Given the description of an element on the screen output the (x, y) to click on. 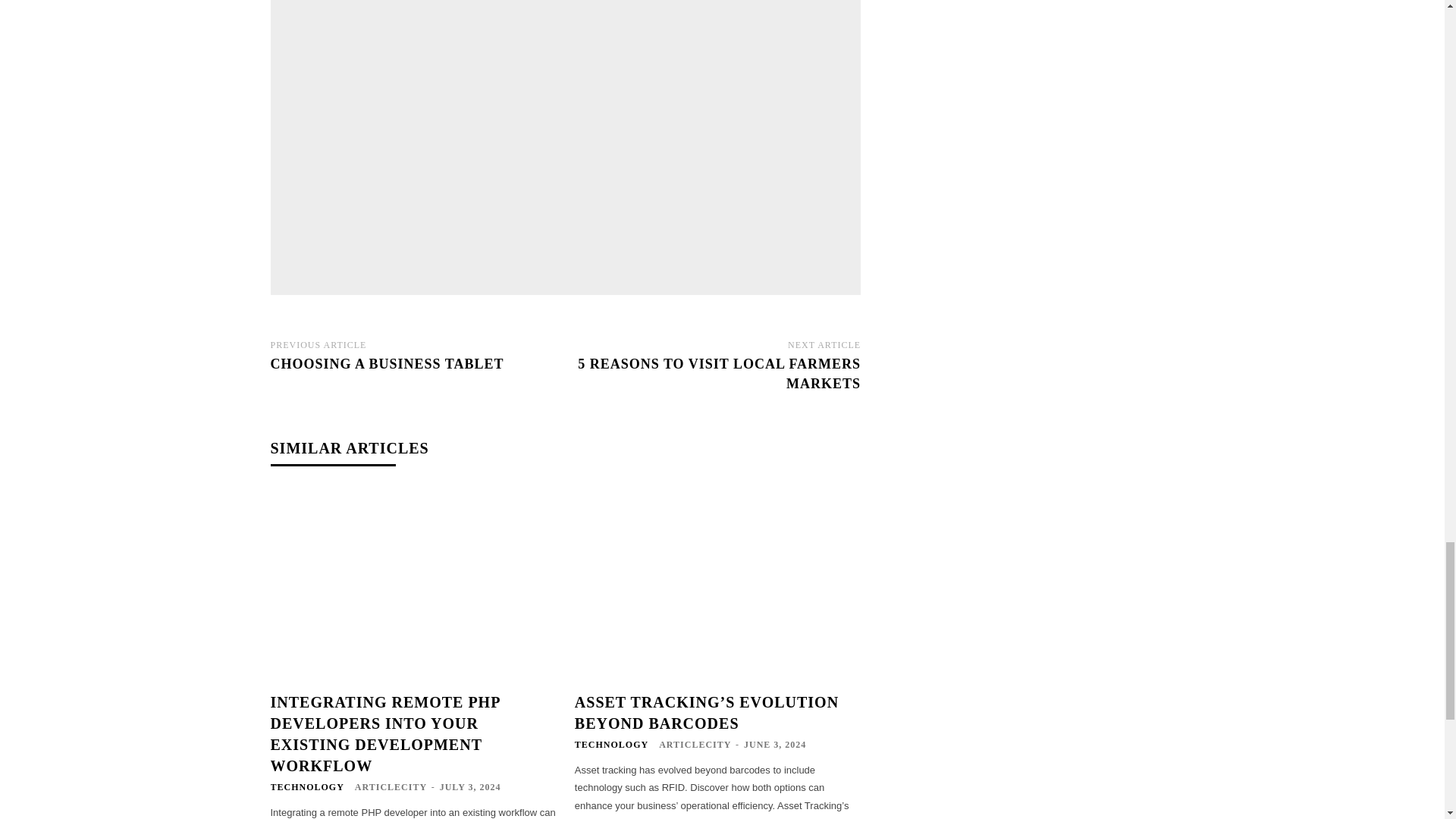
Articlecity (475, 139)
